Given the description of an element on the screen output the (x, y) to click on. 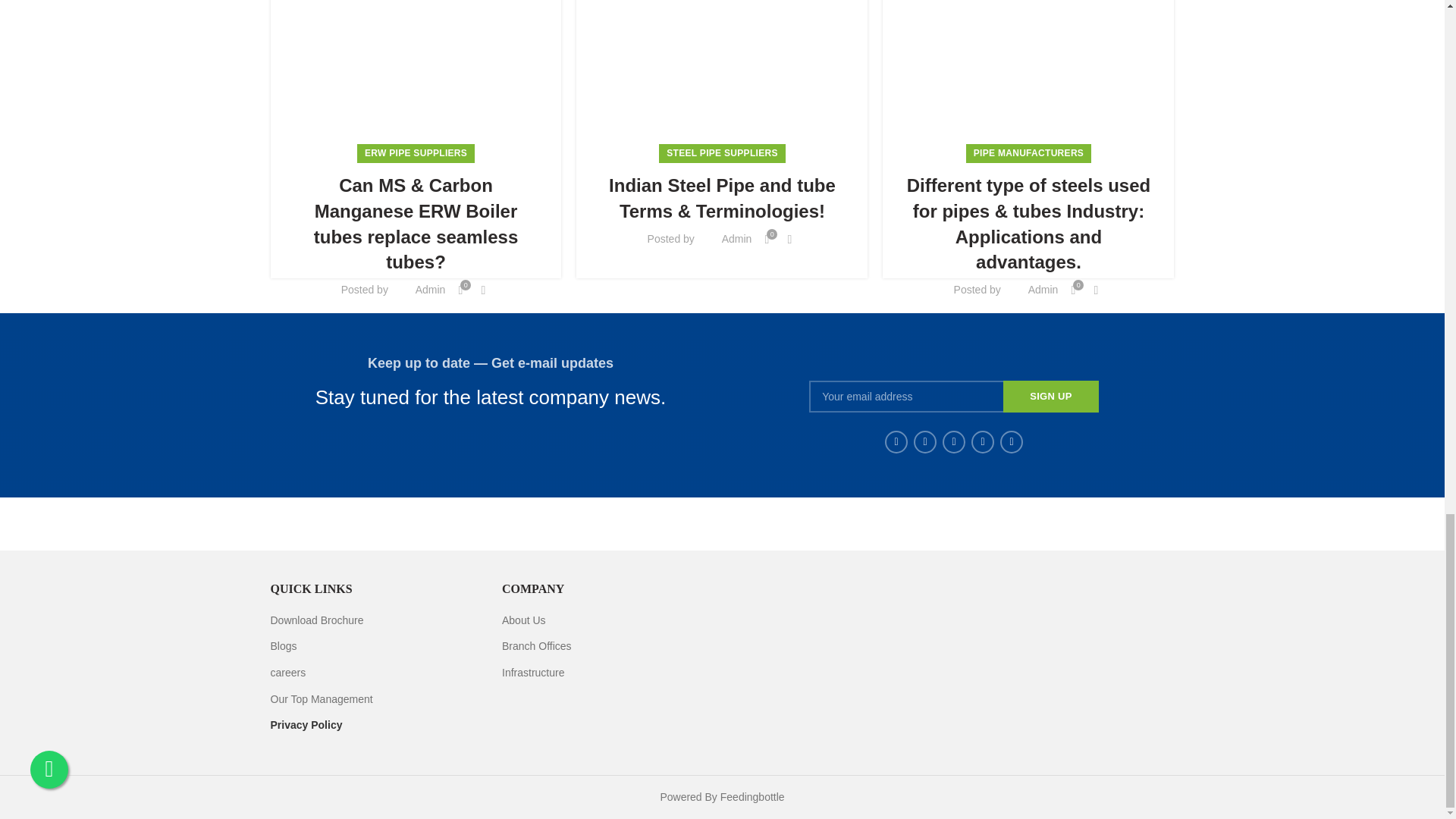
Sign up (1051, 396)
